Given the description of an element on the screen output the (x, y) to click on. 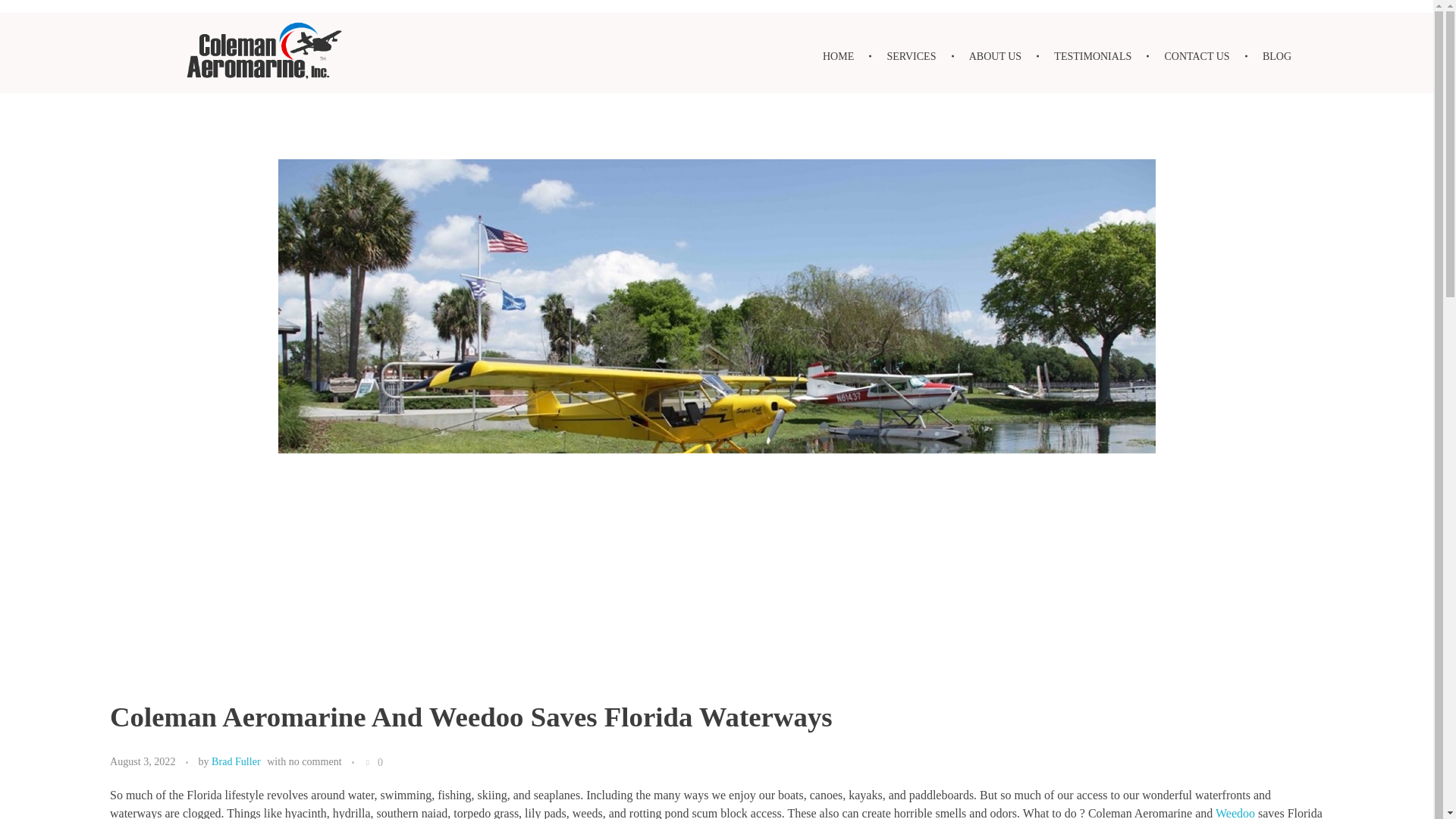
Brad Fuller (235, 761)
View all posts by Brad Fuller (235, 761)
ABOUT US (998, 56)
SERVICES (913, 56)
TESTIMONIALS (1095, 56)
BLOG (1269, 56)
Weedoo (1235, 812)
HOME (847, 56)
CONTACT US (1198, 56)
